Given the description of an element on the screen output the (x, y) to click on. 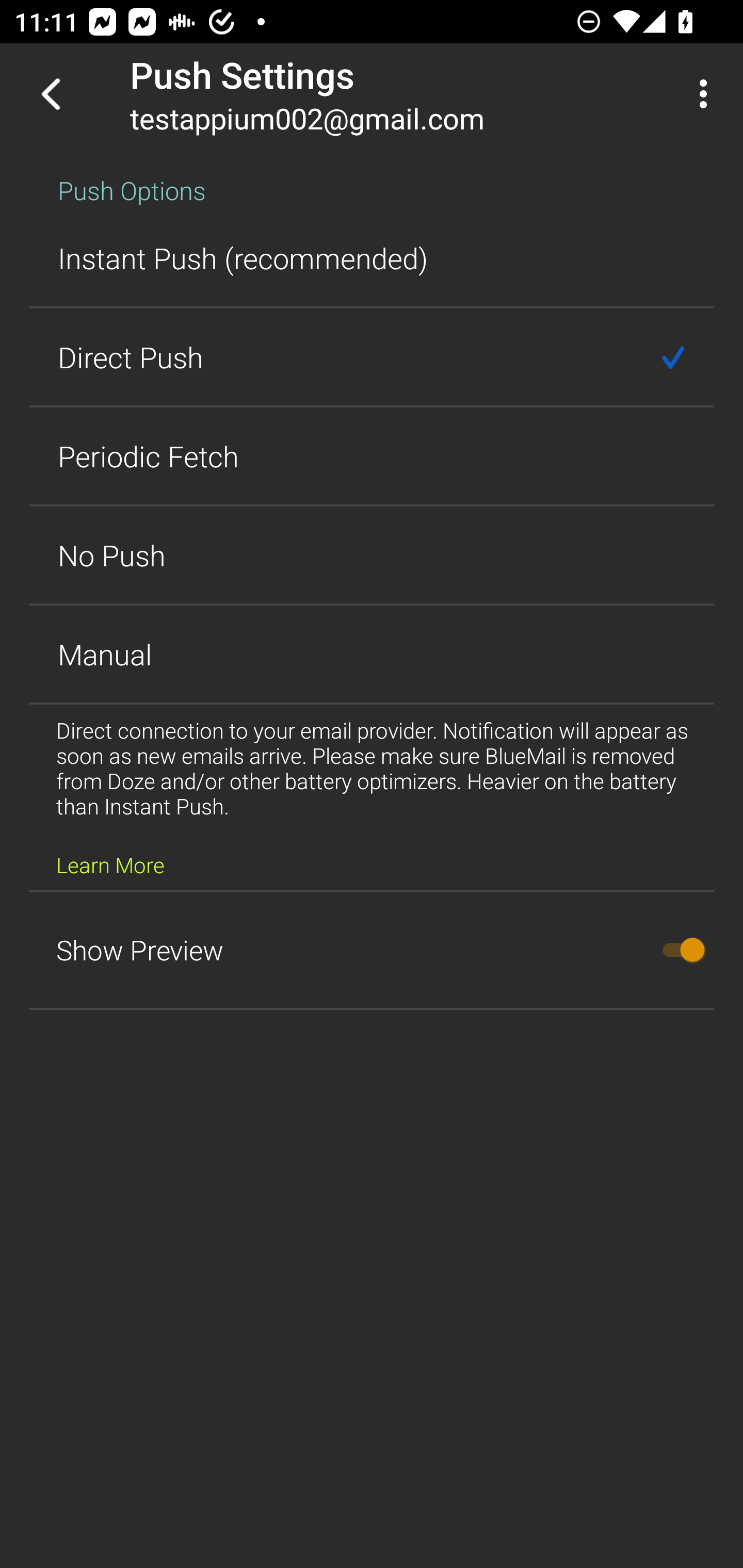
Navigate up (50, 93)
More options (706, 93)
Instant Push (recommended) (371, 257)
Direct Push (371, 357)
Periodic Fetch (371, 455)
No Push (371, 554)
Manual (371, 653)
Learn More (110, 864)
Show Preview (371, 950)
